Given the description of an element on the screen output the (x, y) to click on. 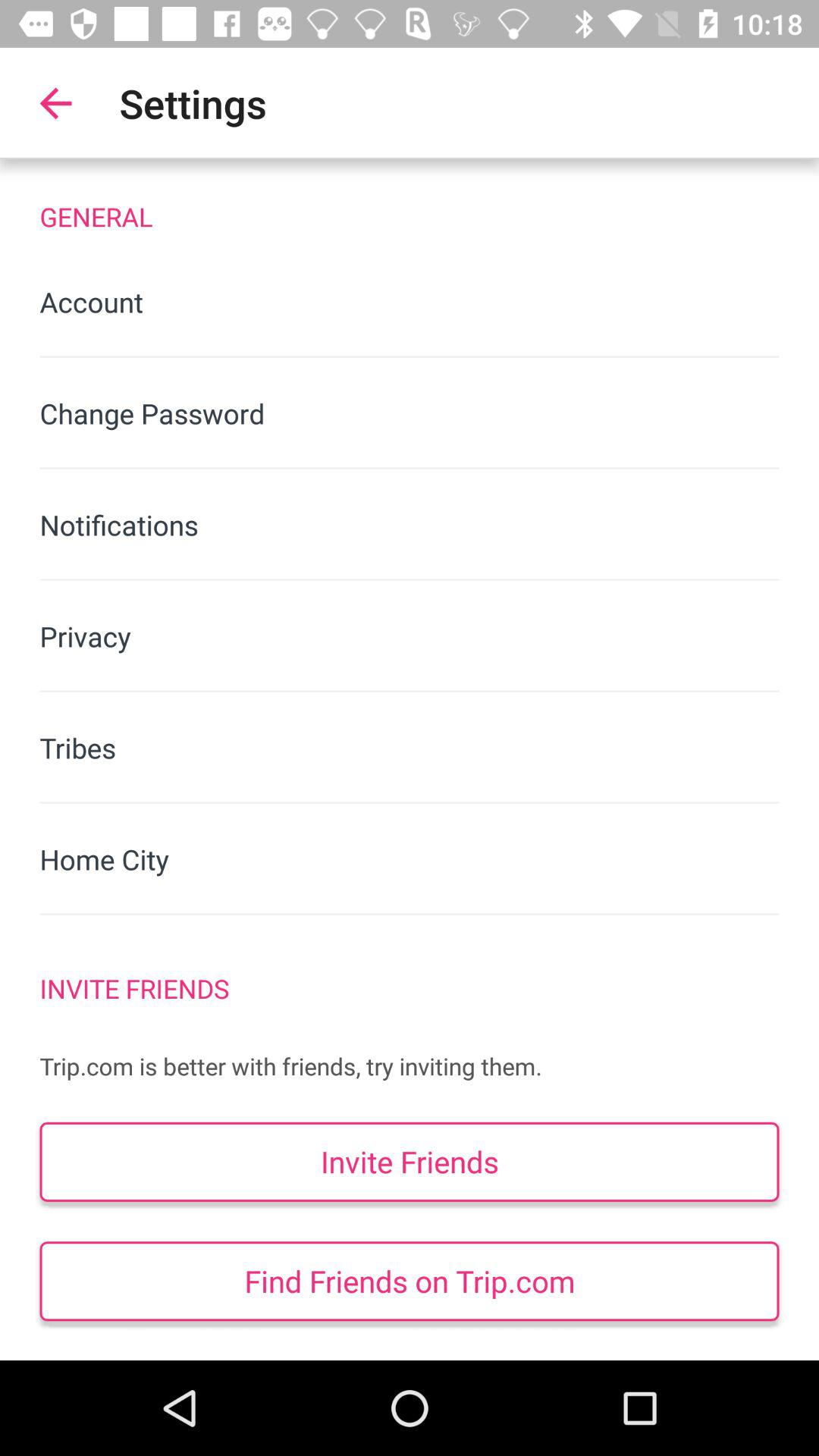
turn on item below notifications item (409, 636)
